Given the description of an element on the screen output the (x, y) to click on. 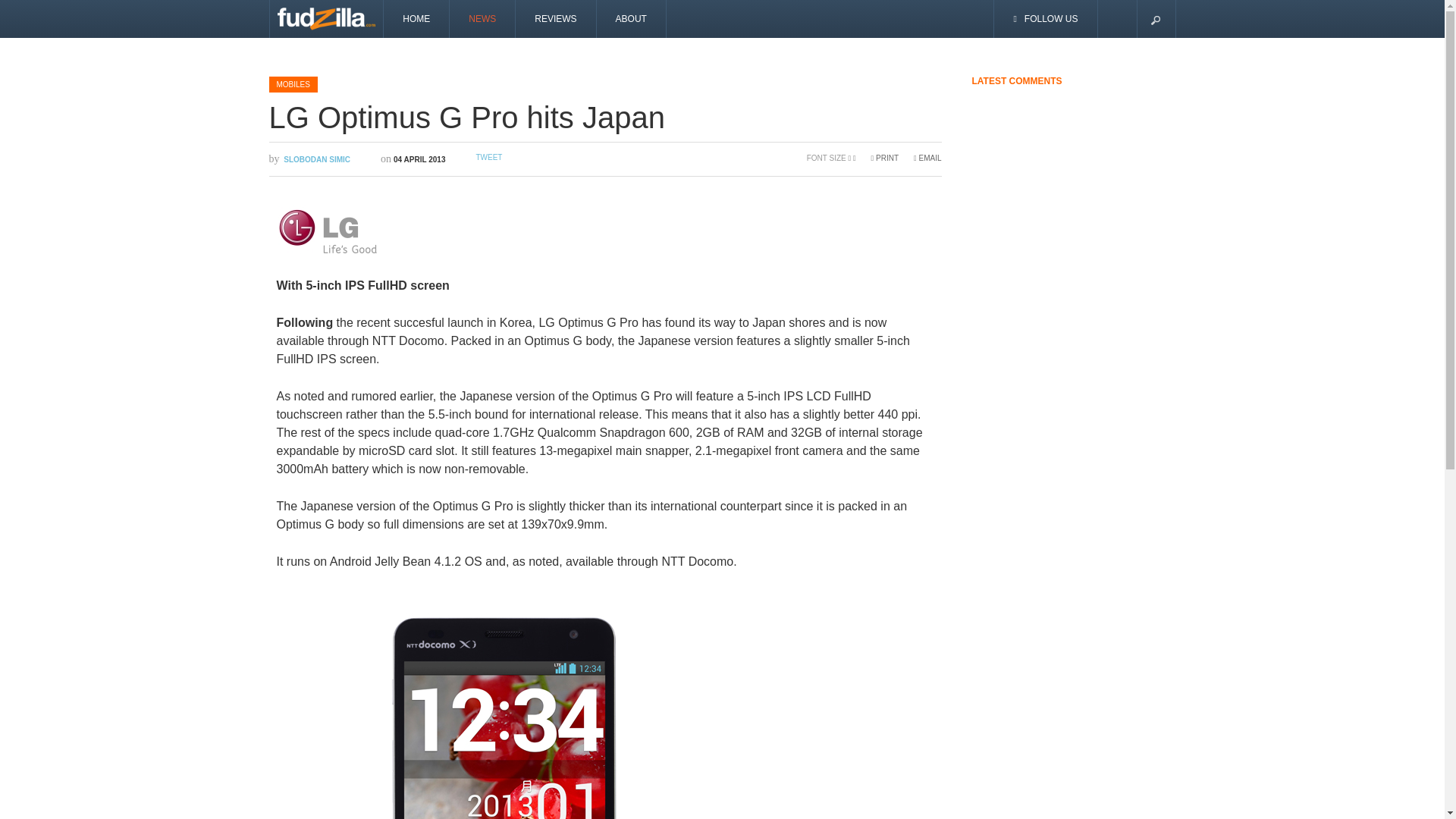
TWEET (489, 157)
PRINT (884, 157)
SLOBODAN SIMIC (316, 159)
HOME (416, 18)
ABOUT (631, 18)
FOLLOW US (1045, 18)
MOBILES (292, 84)
NEWS (482, 18)
REVIEWS (555, 18)
EMAIL (927, 157)
Fudzilla (326, 18)
